Given the description of an element on the screen output the (x, y) to click on. 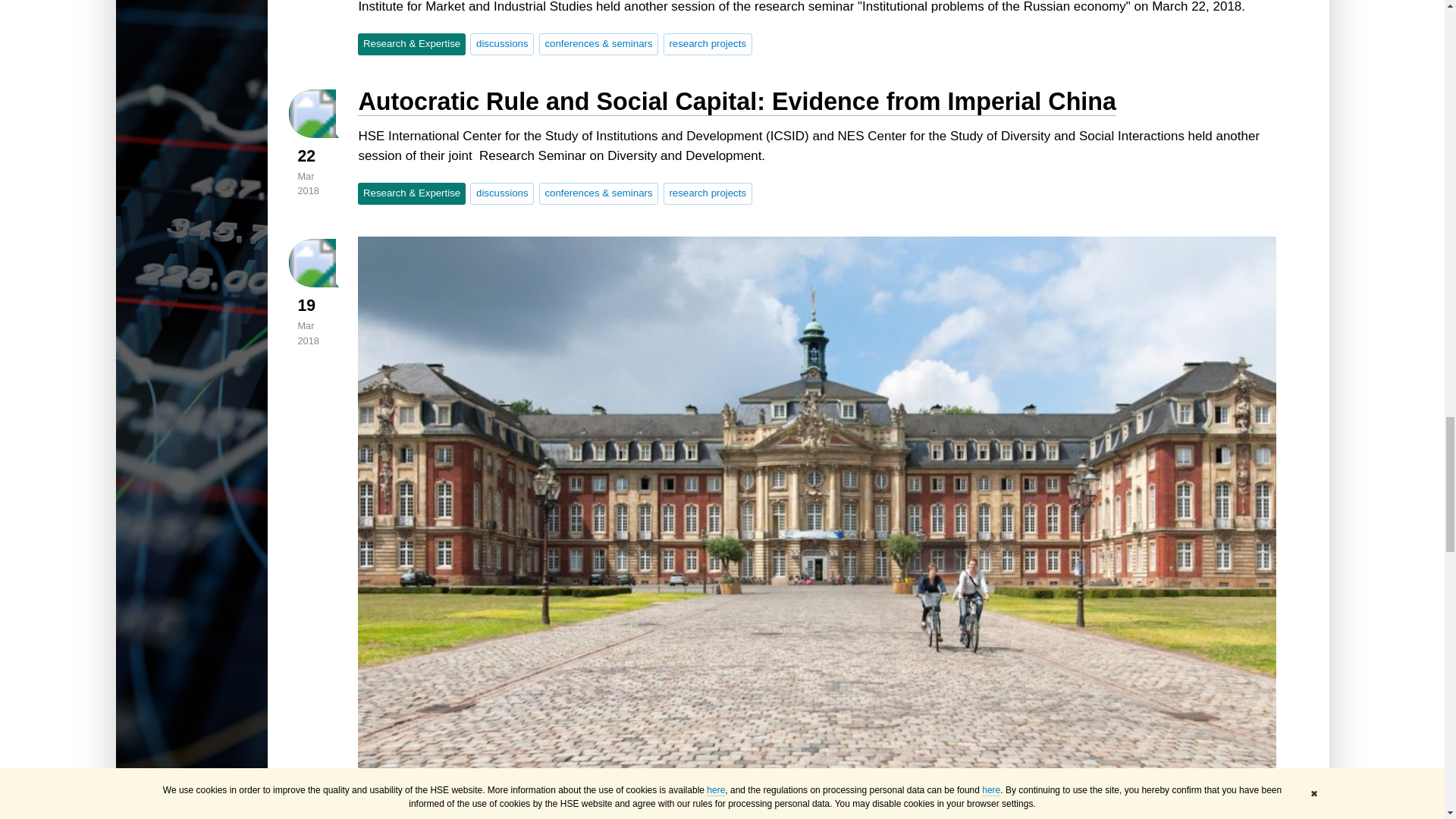
discussions (502, 192)
research projects (707, 43)
discussions (502, 43)
research projects (707, 192)
